Given the description of an element on the screen output the (x, y) to click on. 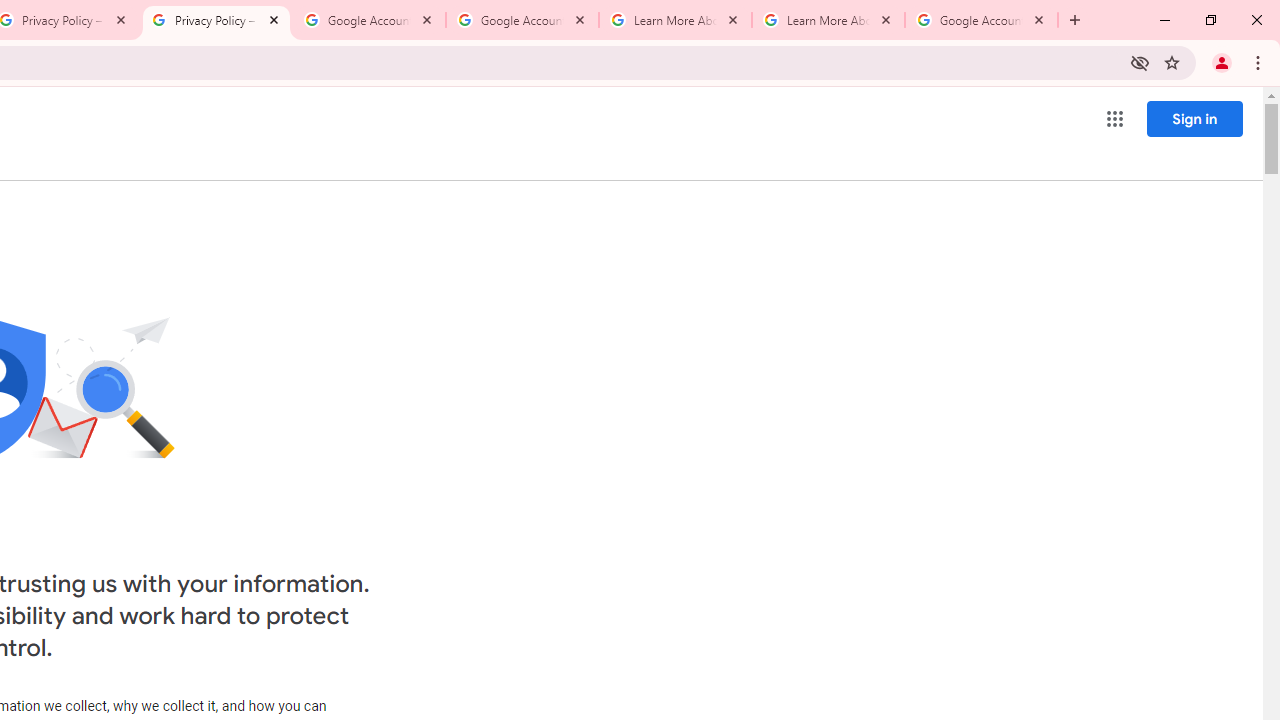
Google Account Help (522, 20)
Google Account (981, 20)
Google Account Help (369, 20)
